Given the description of an element on the screen output the (x, y) to click on. 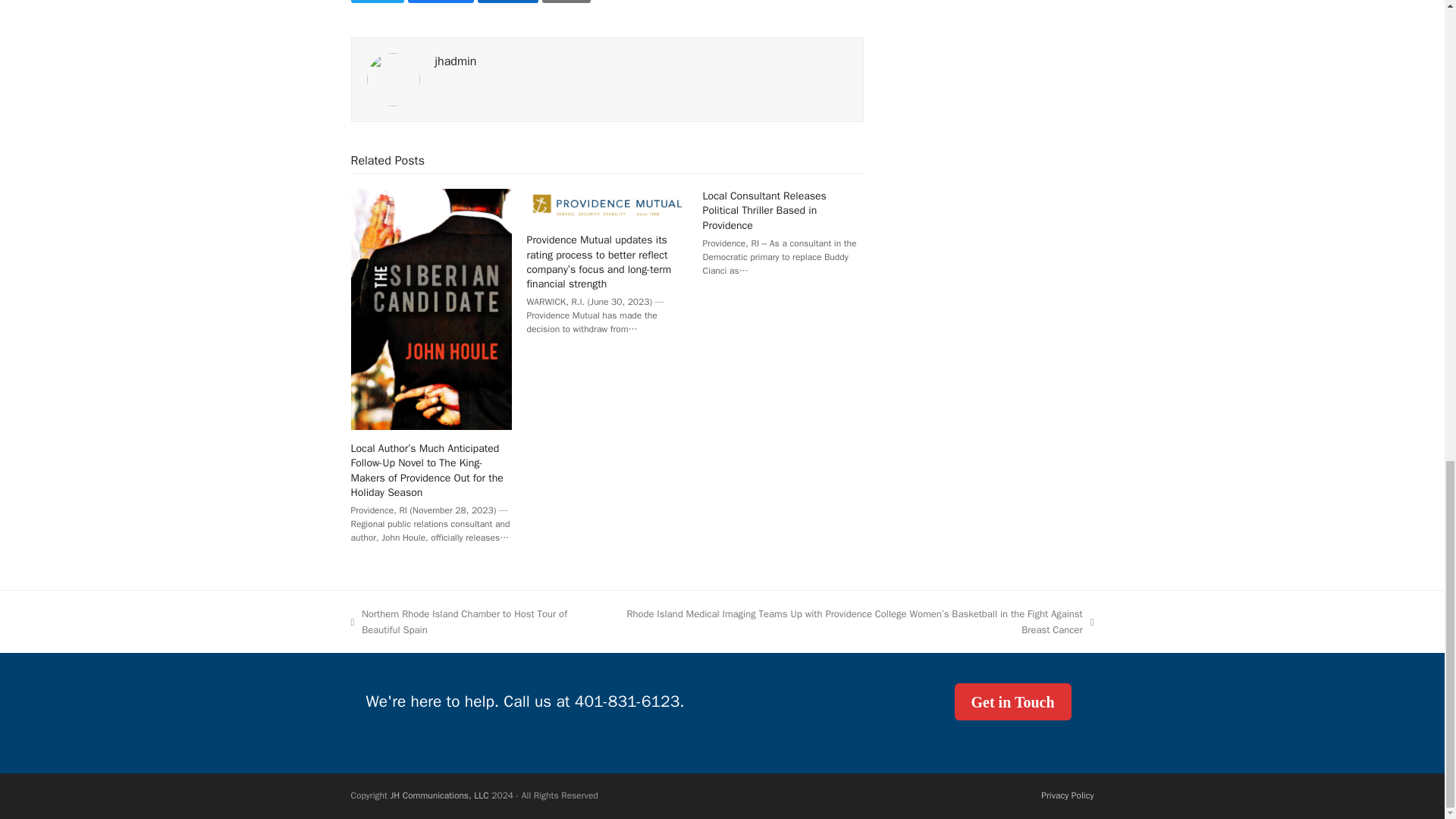
Visit Author Page (456, 61)
Get in Touch (1011, 701)
Visit Author Page (393, 78)
